Given the description of an element on the screen output the (x, y) to click on. 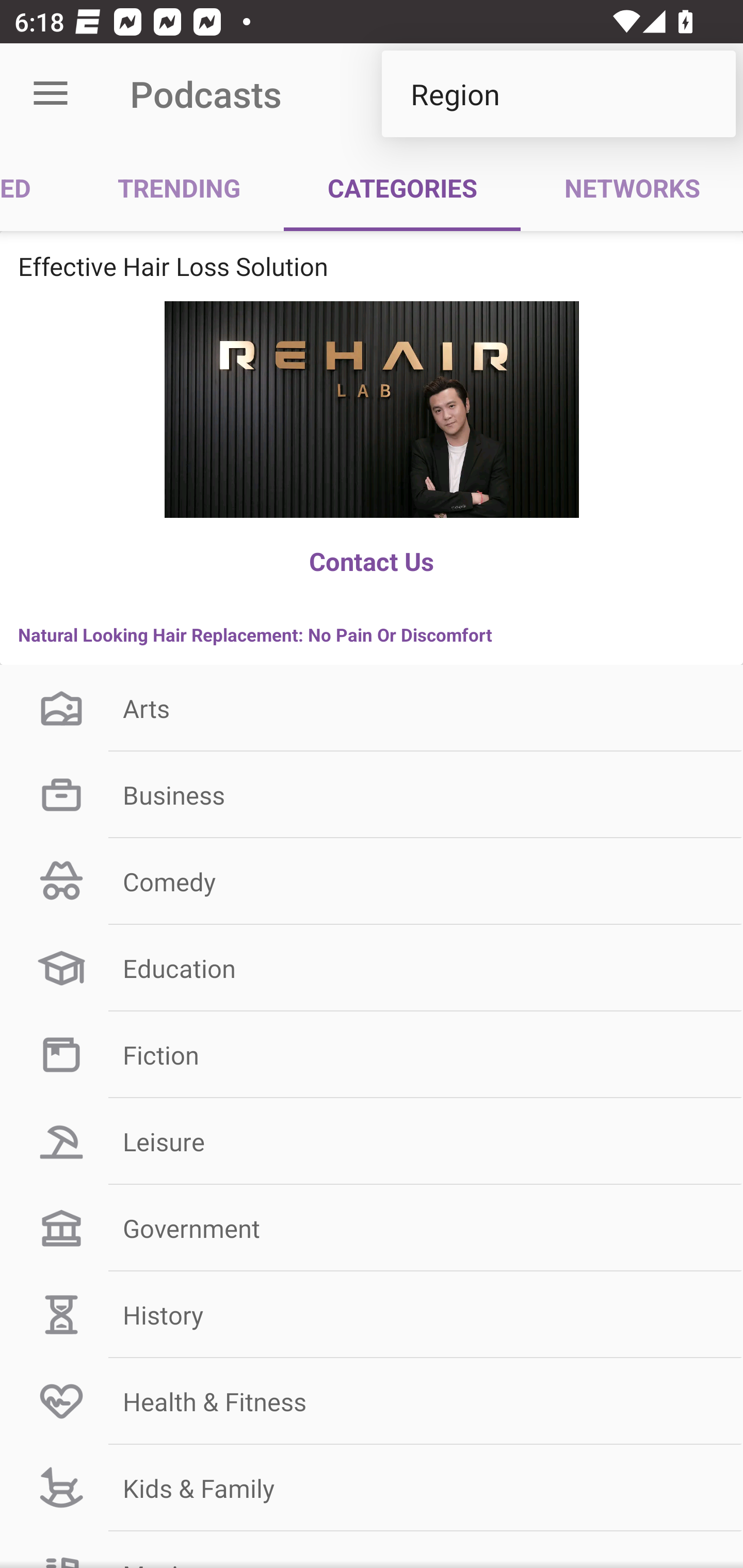
Region (558, 93)
